Given the description of an element on the screen output the (x, y) to click on. 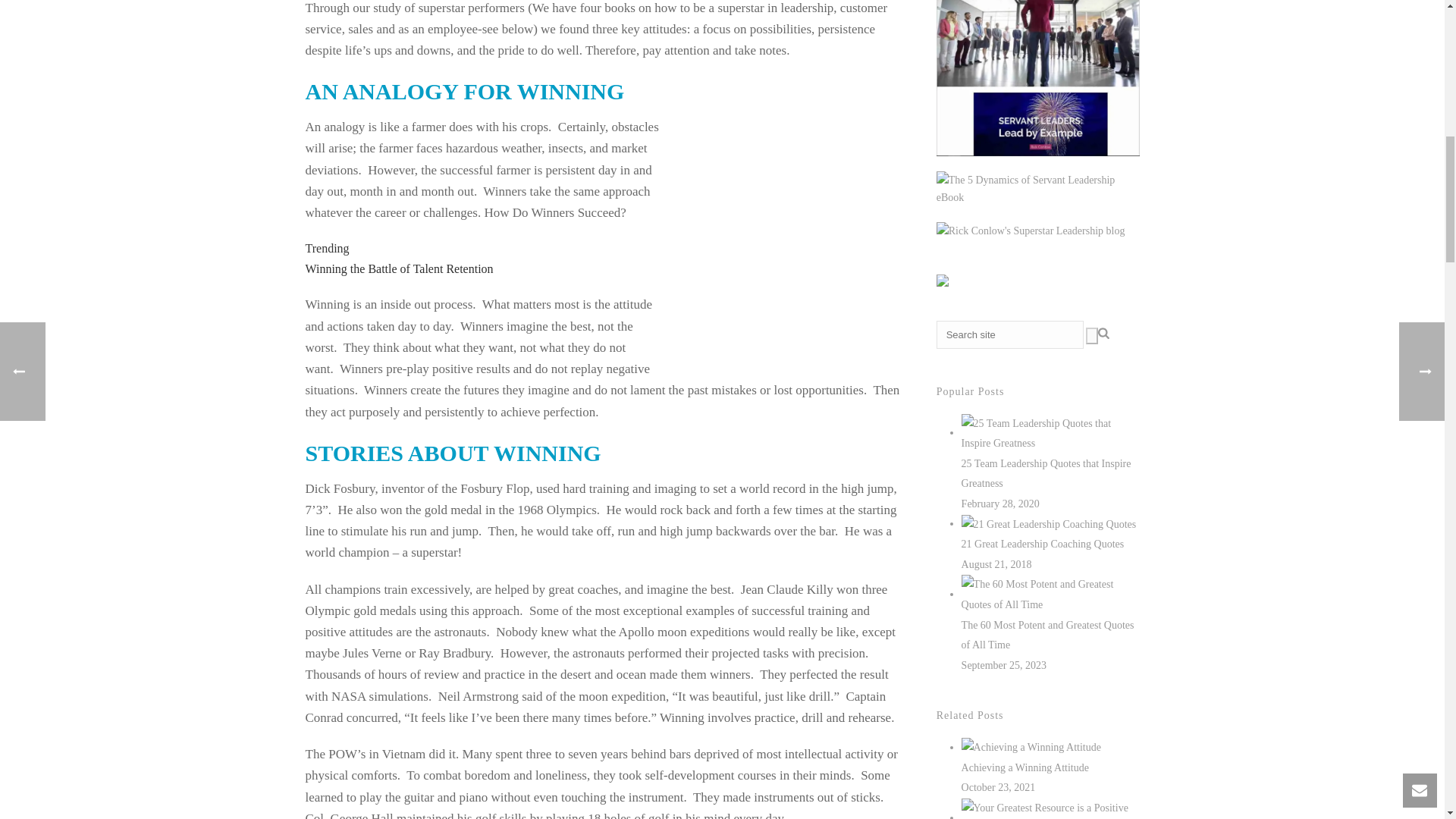
Rick Conlow International Coaching Services (1030, 230)
Winner do what other will not do. By Rick Conlow (791, 230)
